Given the description of an element on the screen output the (x, y) to click on. 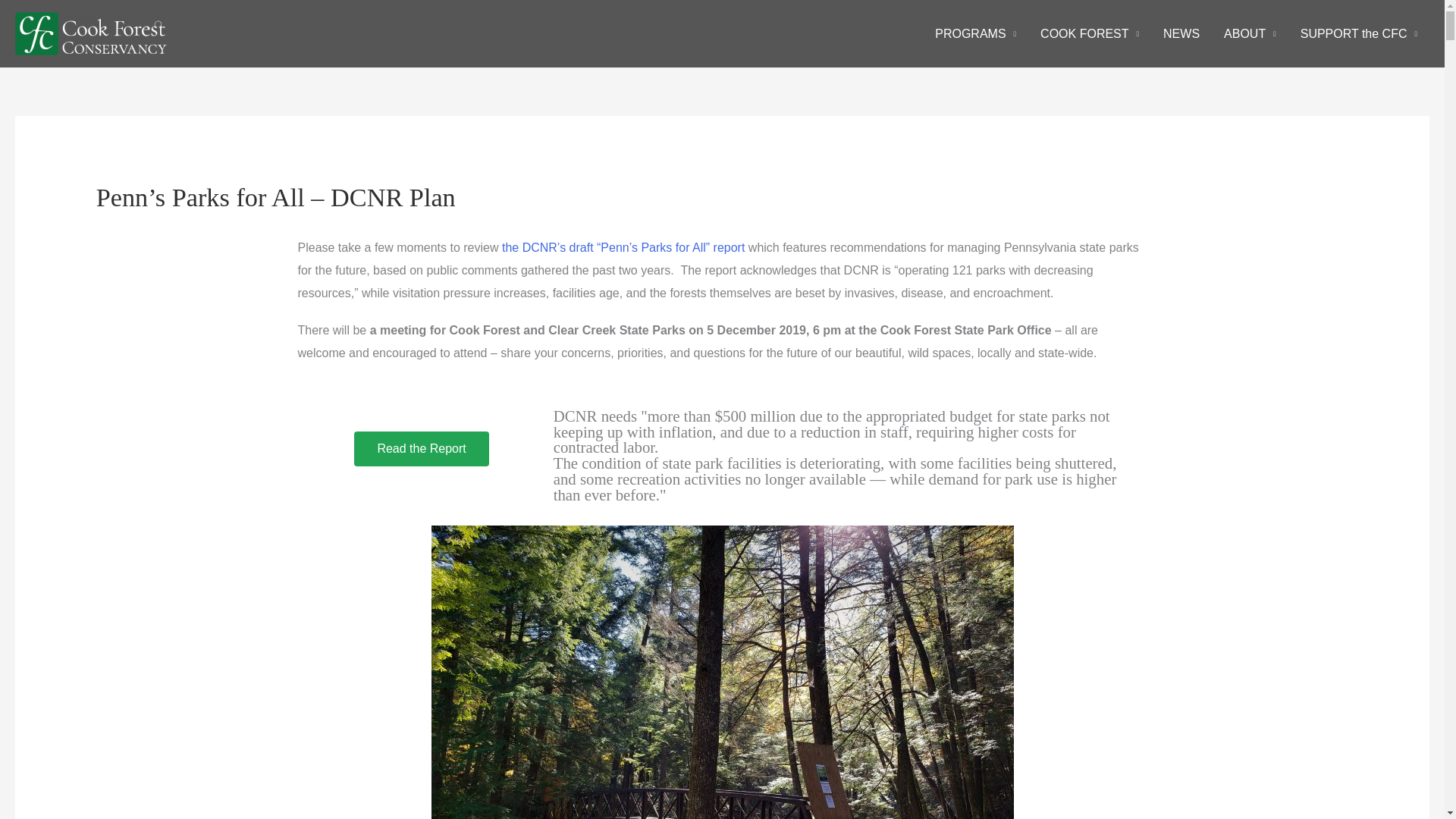
NEWS (1181, 33)
SUPPORT the CFC (1358, 33)
PROGRAMS (975, 33)
COOK FOREST (1089, 33)
Read the Report (420, 448)
ABOUT (1249, 33)
